Given the description of an element on the screen output the (x, y) to click on. 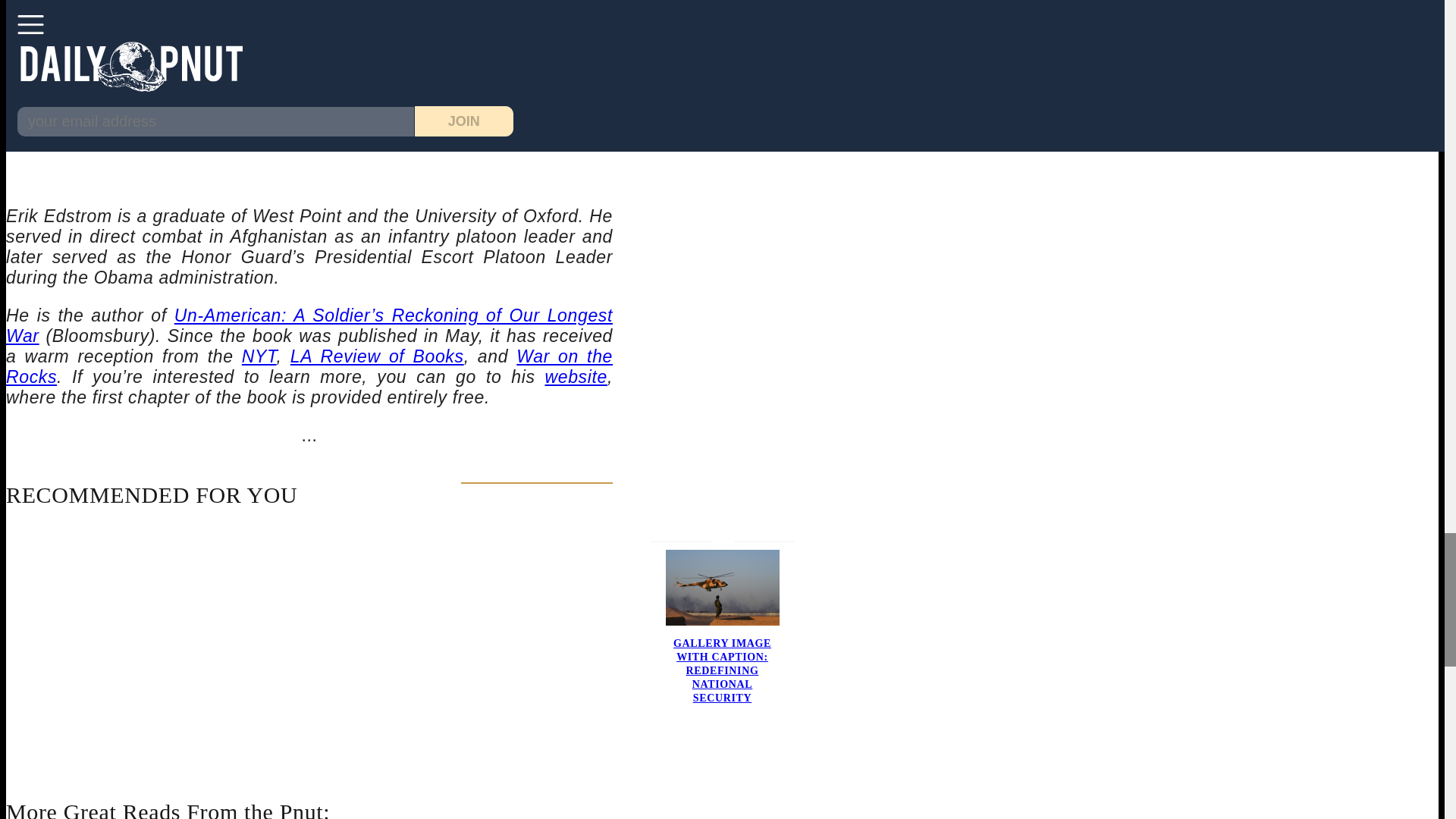
NYT (258, 356)
LA Review of Books (376, 356)
GALLERY IMAGE WITH CAPTION: REDEFINING NATIONAL SECURITY (721, 670)
community-based Mutual Aid (308, 6)
website (575, 376)
Redefining National Security (721, 621)
War on the Rocks (308, 366)
